Given the description of an element on the screen output the (x, y) to click on. 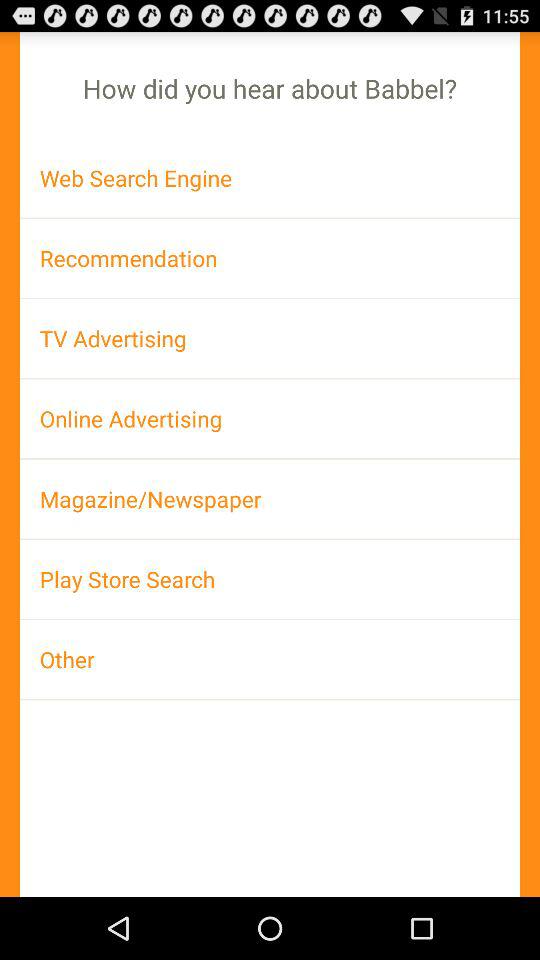
press icon below the play store search (269, 659)
